Given the description of an element on the screen output the (x, y) to click on. 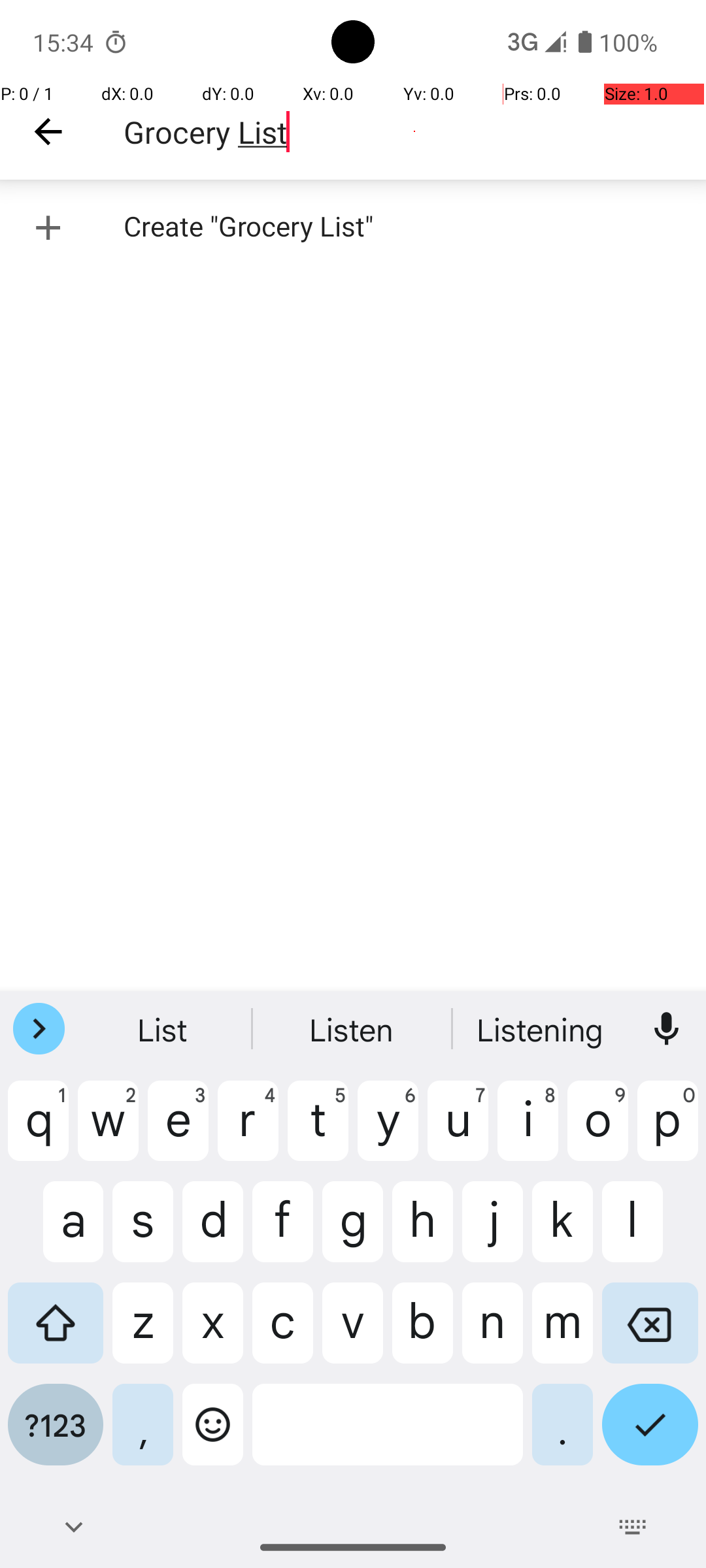
Grocery List Element type: android.widget.EditText (414, 131)
Create "Grocery List" Element type: android.widget.TextView (353, 227)
List Element type: android.widget.FrameLayout (163, 1028)
Listen Element type: android.widget.FrameLayout (541, 1028)
